Given the description of an element on the screen output the (x, y) to click on. 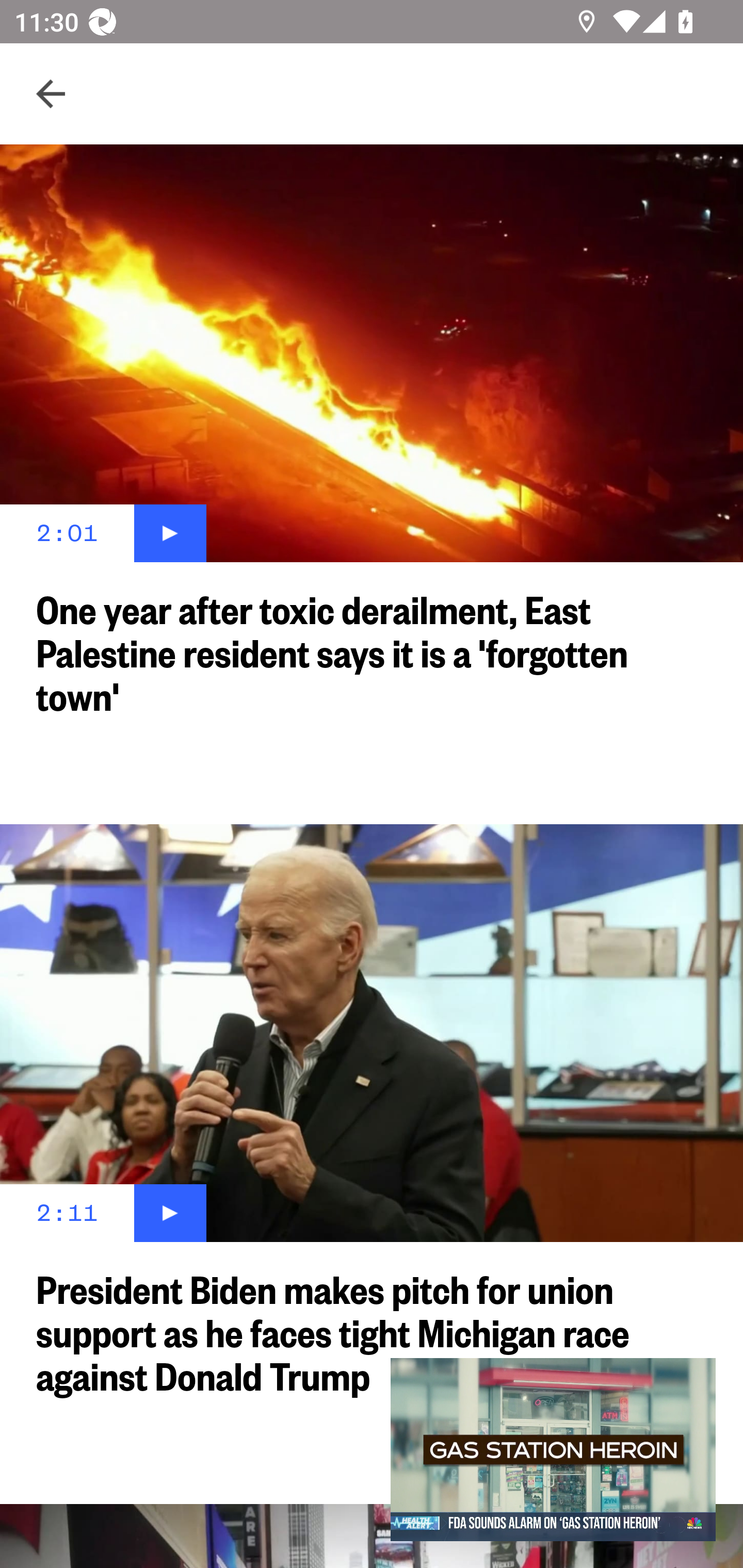
Navigate up (50, 93)
